Given the description of an element on the screen output the (x, y) to click on. 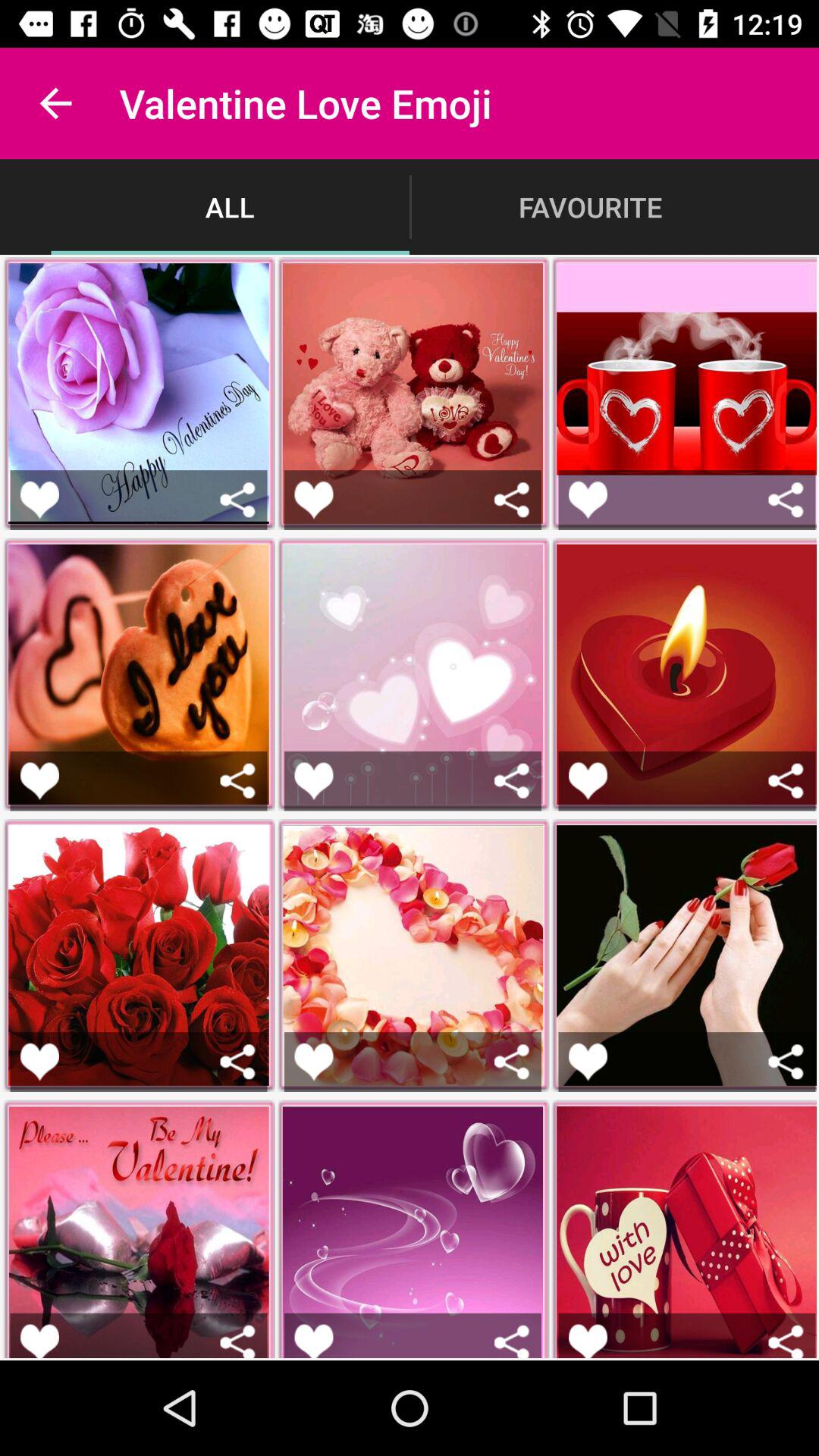
share options (511, 780)
